Given the description of an element on the screen output the (x, y) to click on. 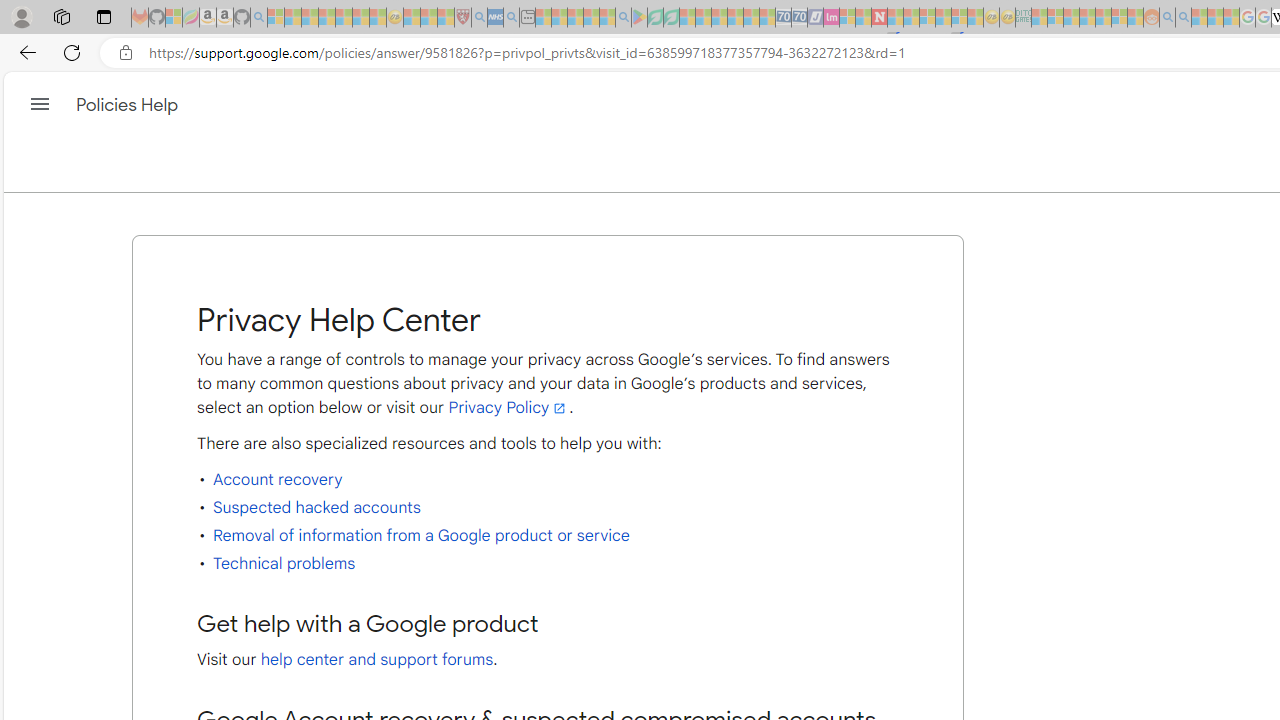
Main menu (39, 103)
Suspected hacked accounts (316, 507)
